Given the description of an element on the screen output the (x, y) to click on. 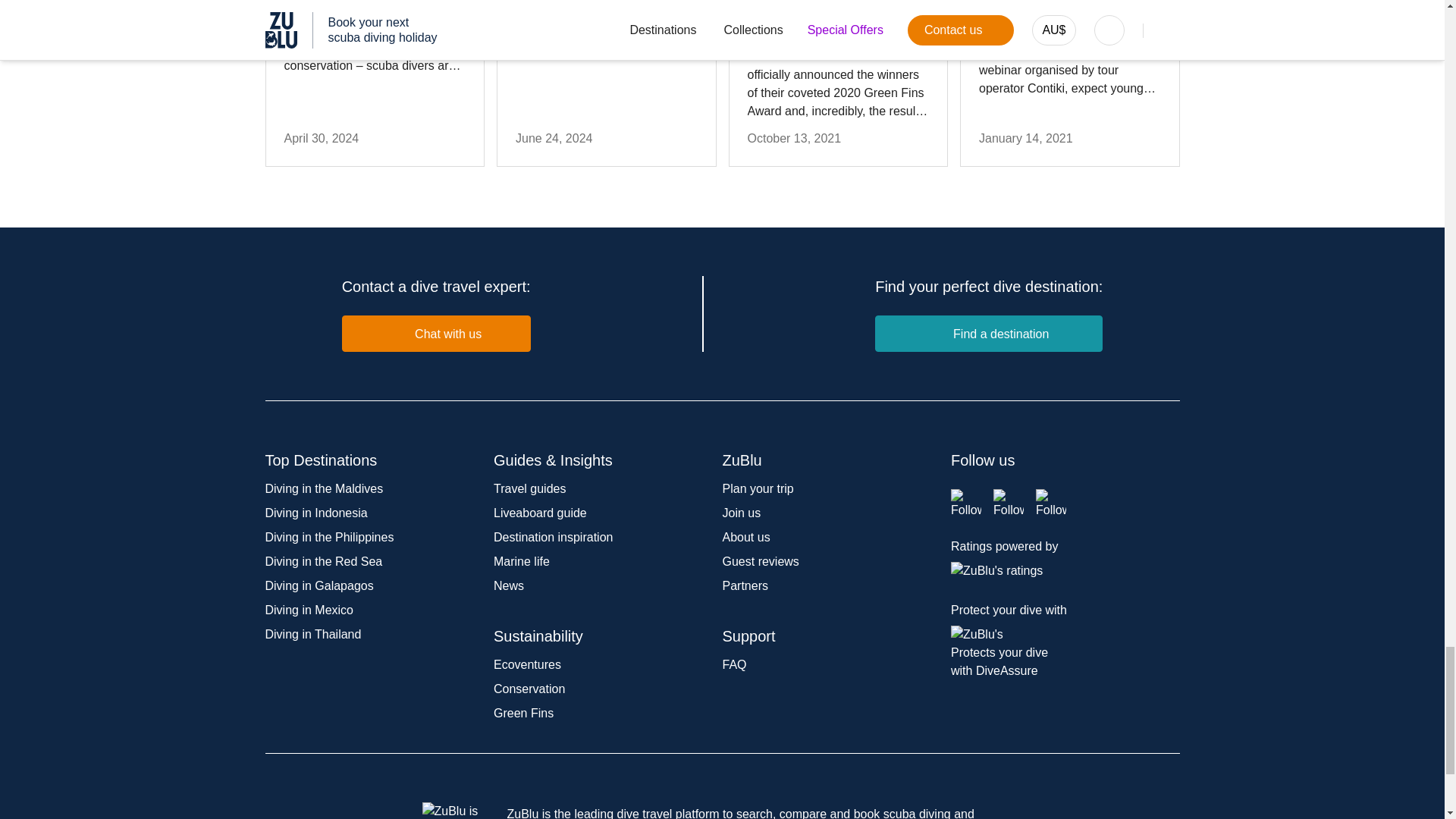
Chat with us (436, 333)
Diving in Thailand (312, 634)
Diving in the Red Sea (323, 561)
Diving in Indonesia (316, 512)
Find a destination (988, 333)
Diving in the Philippines (329, 536)
Diving in Galapagos (319, 585)
Travel guides (529, 488)
